Given the description of an element on the screen output the (x, y) to click on. 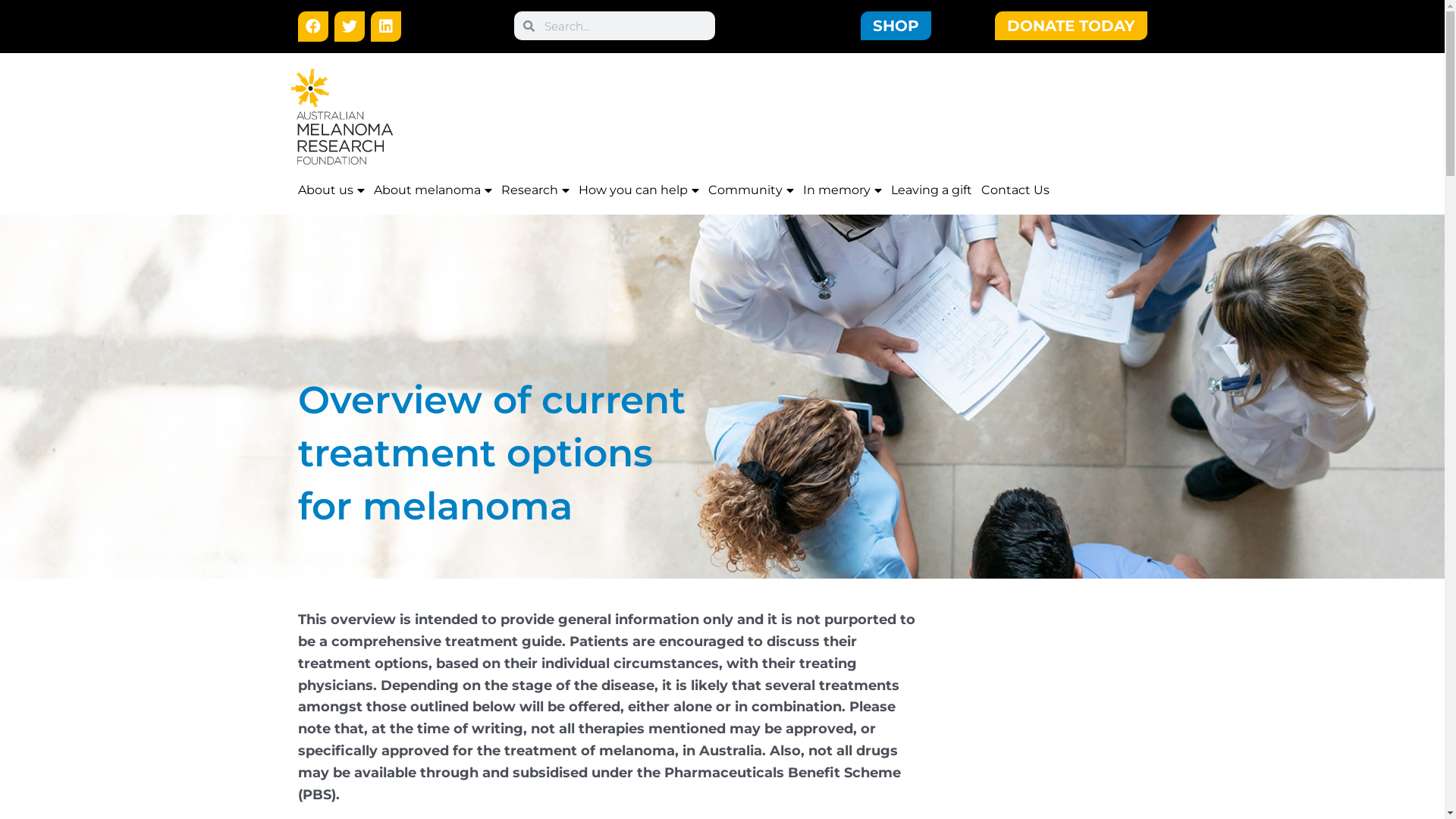
Community Element type: text (750, 189)
About melanoma Element type: text (432, 189)
In memory Element type: text (841, 189)
Leaving a gift Element type: text (930, 189)
How you can help Element type: text (637, 189)
Twitter Element type: text (348, 26)
SHOP Element type: text (894, 25)
Linkedin Element type: text (385, 26)
DONATE TODAY Element type: text (1070, 25)
Facebook Element type: text (312, 26)
Research Element type: text (534, 189)
About us Element type: text (330, 189)
Contact Us Element type: text (1015, 189)
